Given the description of an element on the screen output the (x, y) to click on. 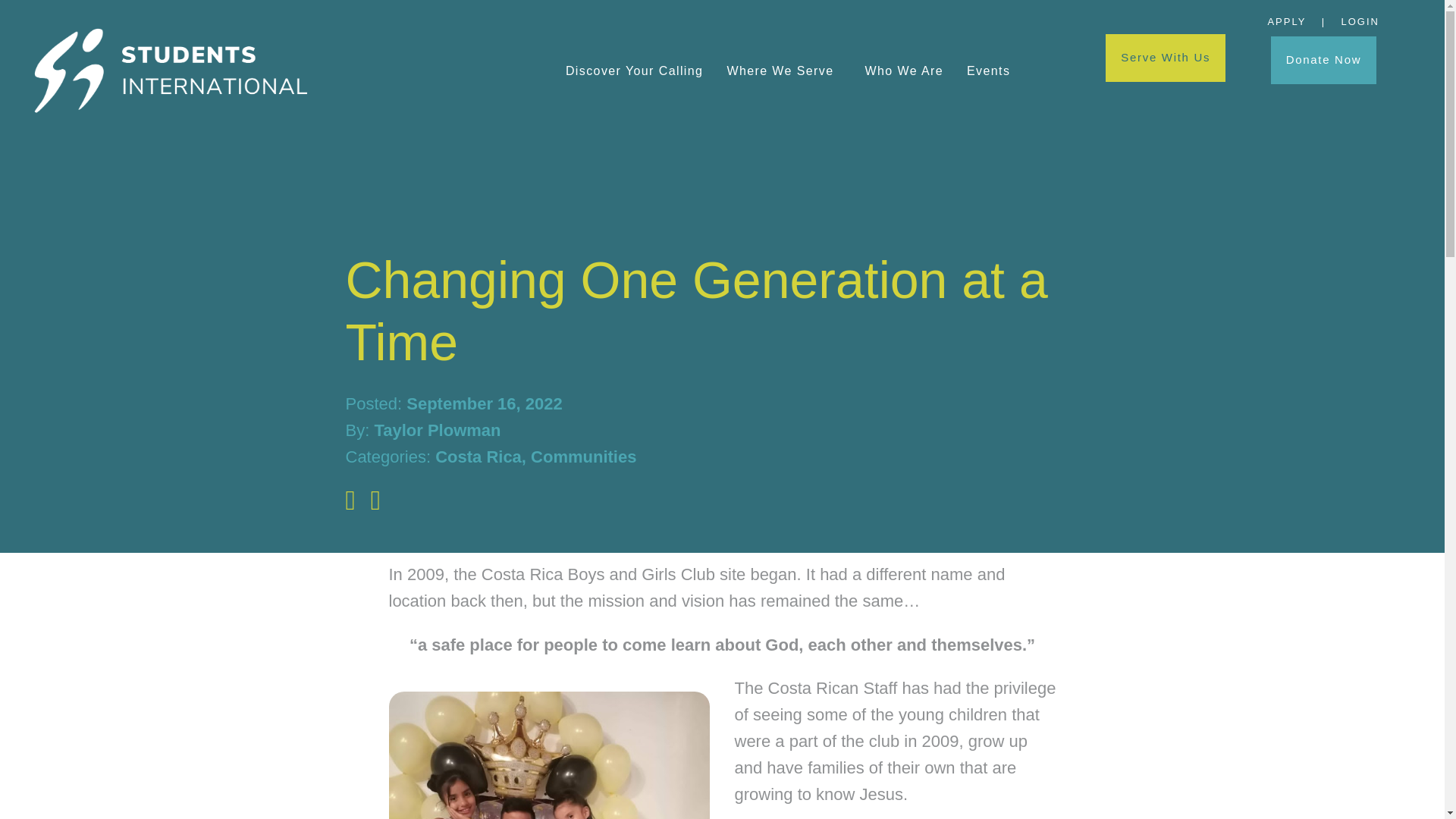
Events (988, 71)
Posts by Taylor Plowman (437, 429)
September (449, 403)
Donate Now (1324, 60)
Serve With Us (1165, 57)
2022 (543, 403)
APPLY (1286, 21)
LOGIN (1359, 21)
Communities (583, 456)
Costa Rica (478, 456)
